Given the description of an element on the screen output the (x, y) to click on. 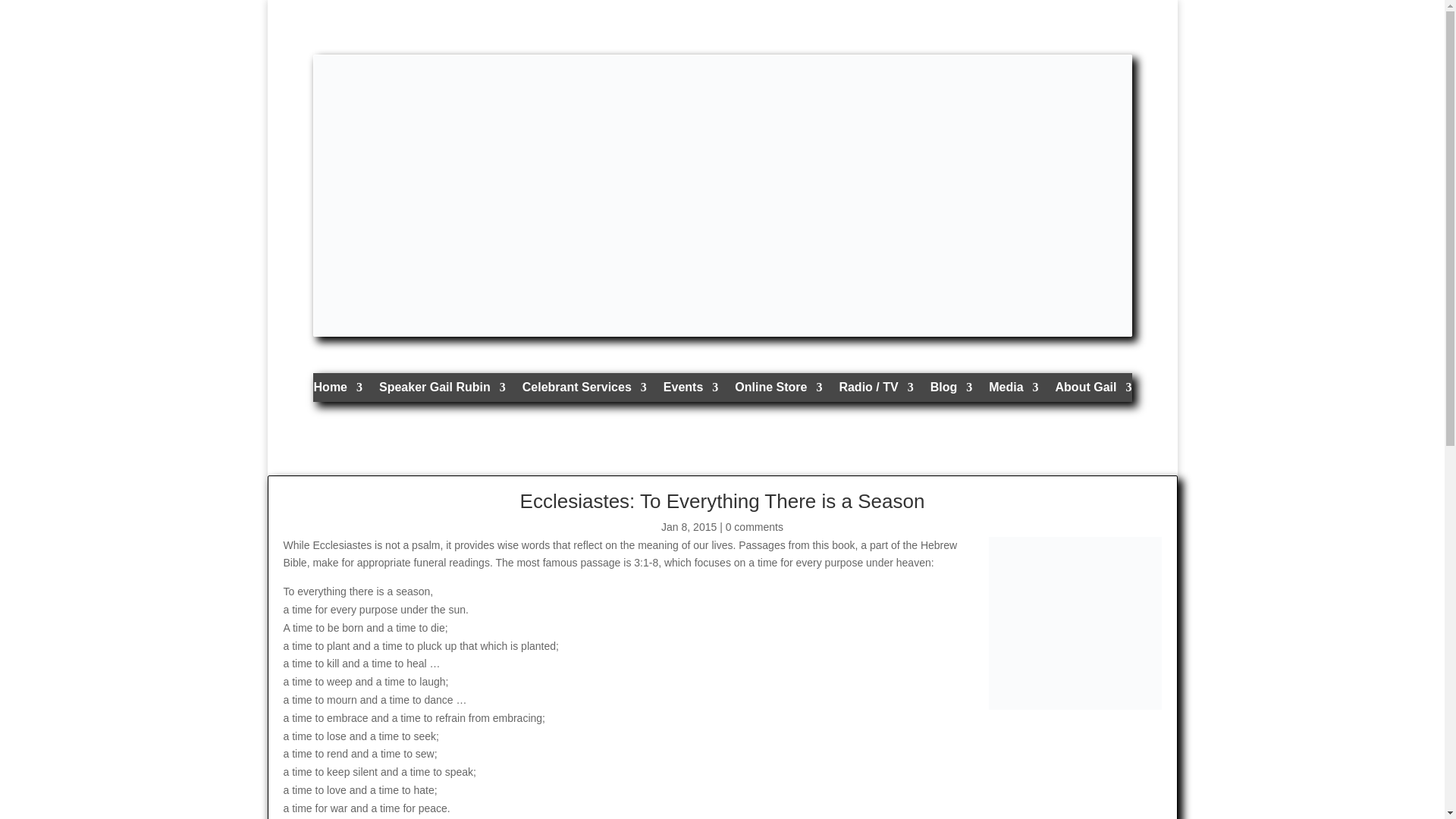
Blog (951, 390)
Funeral Services (584, 390)
Media (1013, 390)
Events (690, 390)
Home (338, 390)
Online Store (778, 390)
Speaker Gail Rubin (441, 390)
About Gail (1093, 390)
Celebrant Services (584, 390)
